Given the description of an element on the screen output the (x, y) to click on. 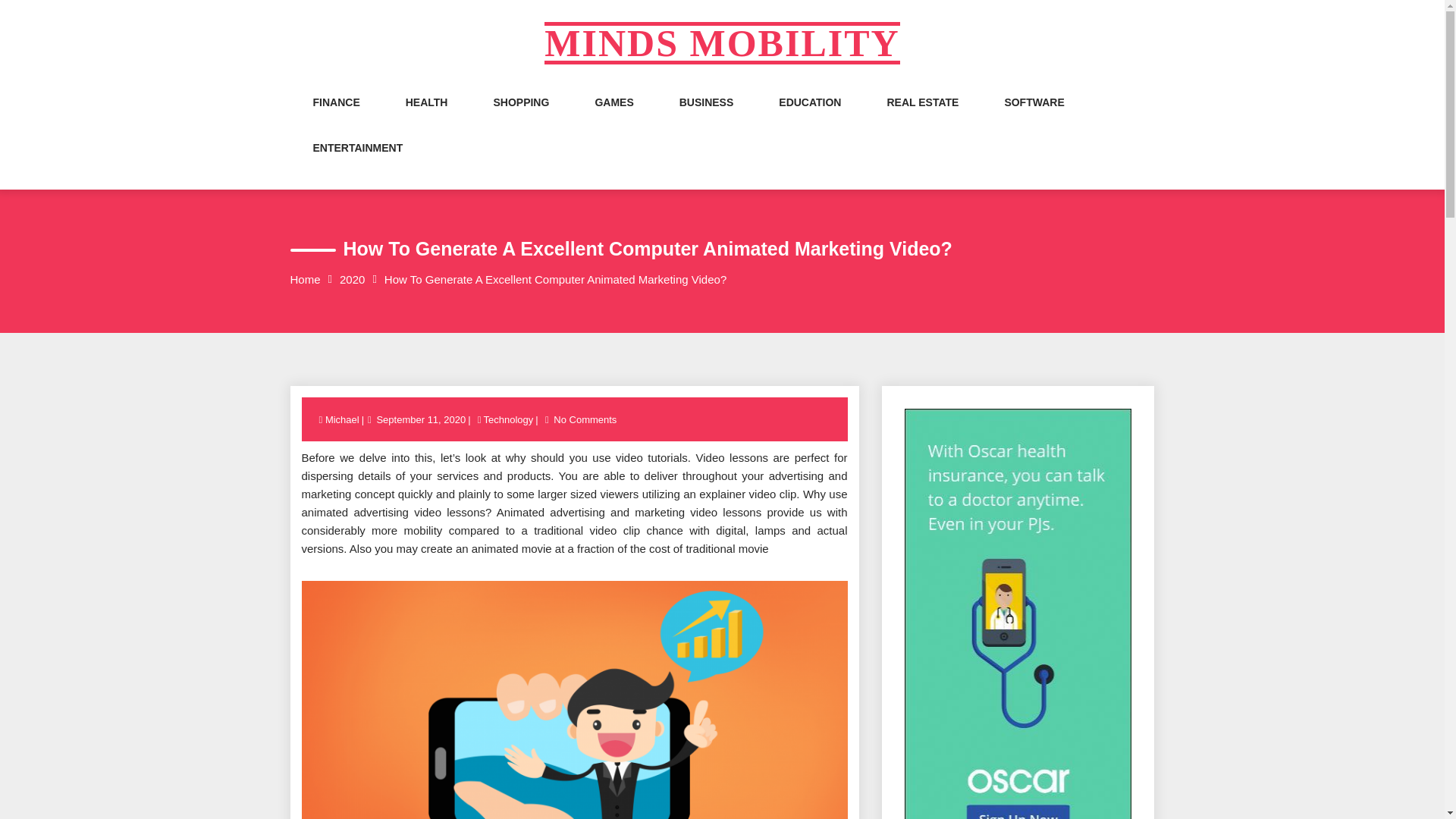
MINDS MOBILITY (721, 43)
REAL ESTATE (922, 117)
2020 (352, 278)
Home (304, 278)
SHOPPING (520, 117)
SOFTWARE (1034, 117)
Michael (342, 419)
HEALTH (427, 117)
Technology (508, 419)
EDUCATION (809, 117)
FINANCE (336, 117)
September 11, 2020 (420, 419)
No Comments (584, 419)
ENTERTAINMENT (358, 162)
BUSINESS (706, 117)
